Given the description of an element on the screen output the (x, y) to click on. 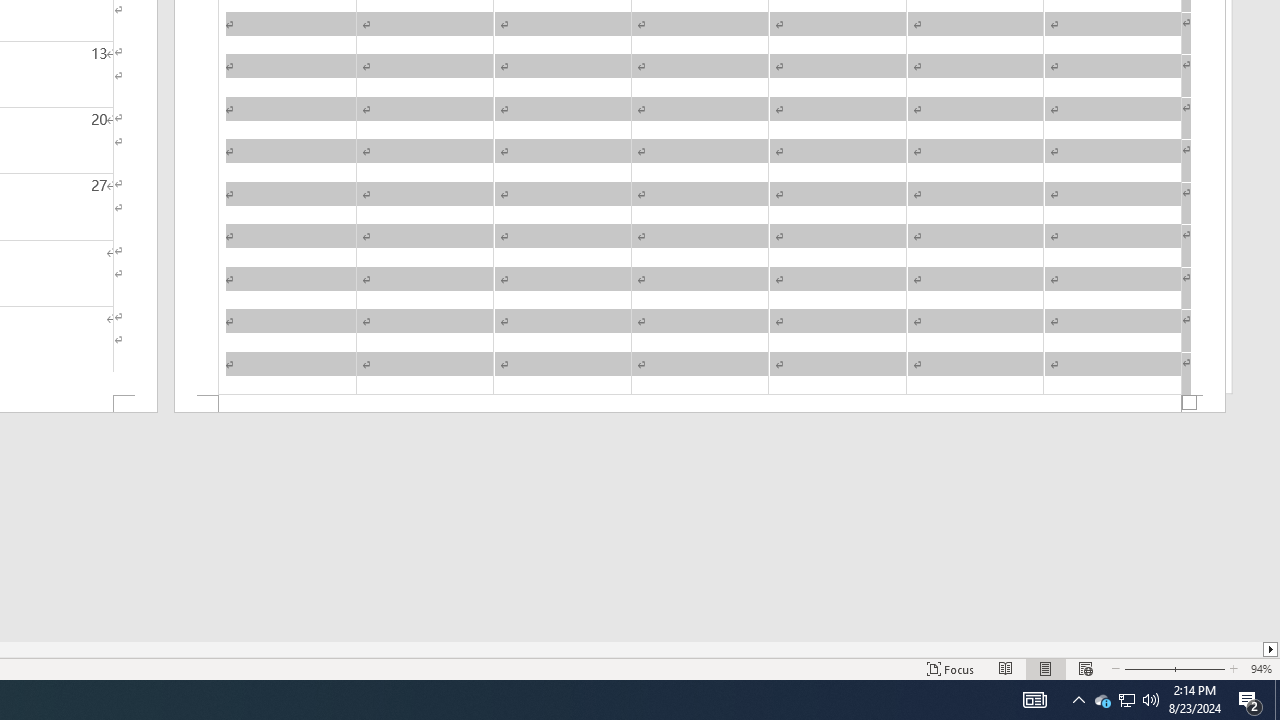
Column right (1271, 649)
Footer -Section 1- (700, 404)
Zoom Out (1147, 668)
Read Mode (1005, 668)
Print Layout (1046, 668)
Zoom In (1199, 668)
Web Layout (1085, 668)
Focus  (951, 668)
